Given the description of an element on the screen output the (x, y) to click on. 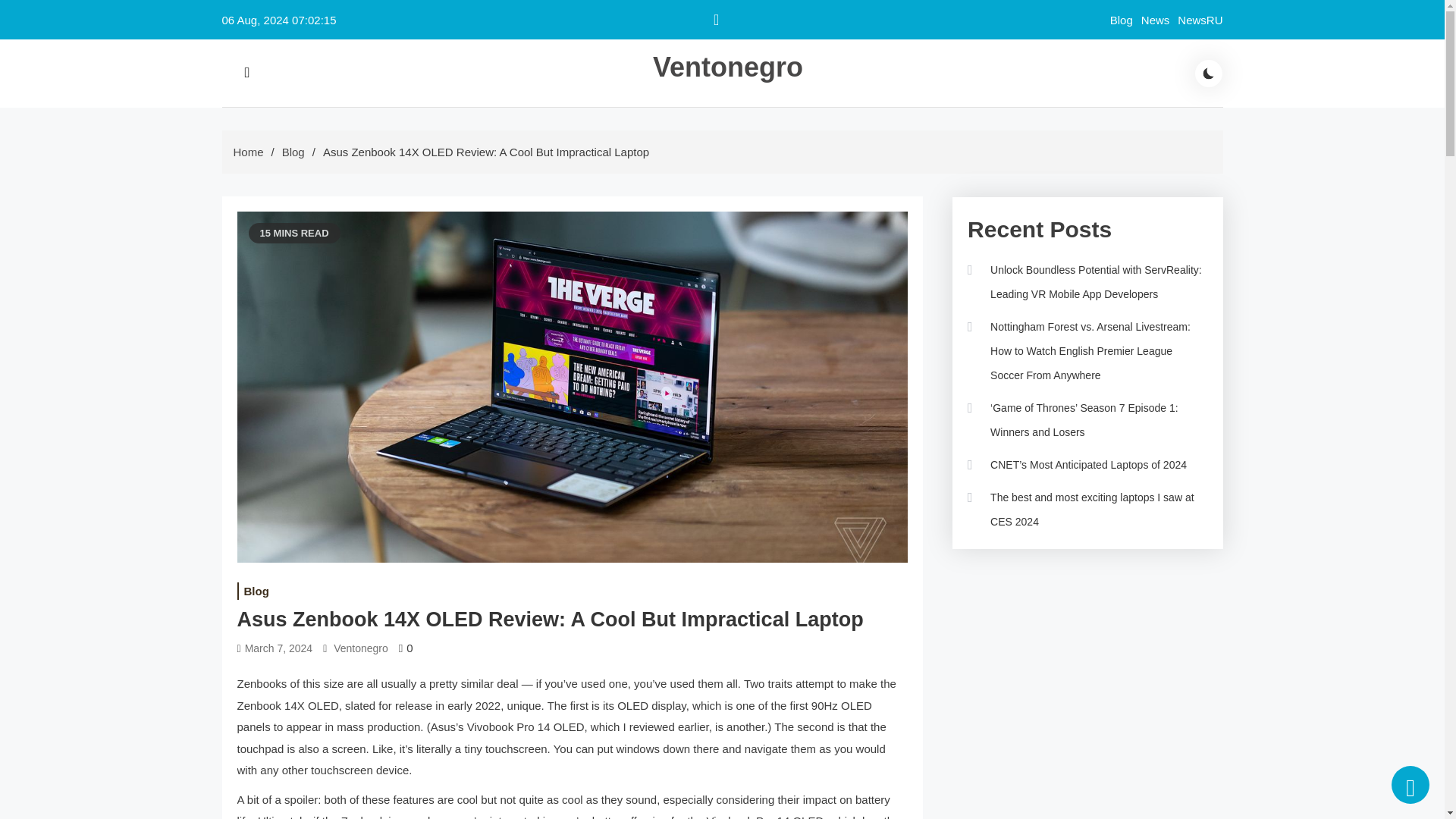
Blog (293, 151)
Blog (1120, 19)
site mode button (1209, 72)
News (1155, 19)
NewsRU (1200, 19)
Blog (255, 590)
Search (417, 107)
Home (247, 151)
Ventonegro (727, 66)
Ventonegro (360, 648)
March 7, 2024 (278, 648)
